Given the description of an element on the screen output the (x, y) to click on. 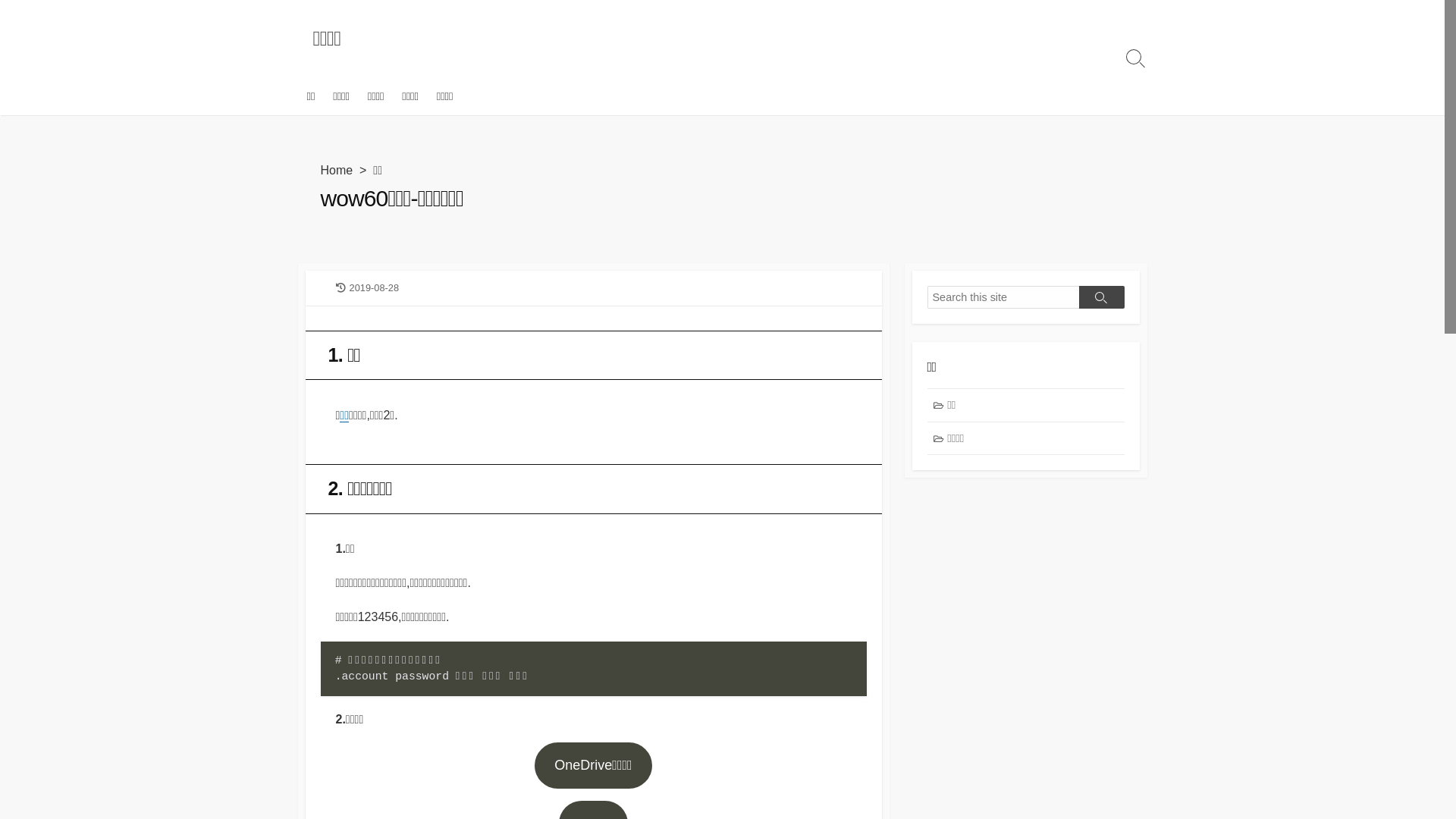
Home Element type: text (336, 169)
Search Element type: text (1100, 296)
Search Toggle Element type: text (1135, 57)
